Given the description of an element on the screen output the (x, y) to click on. 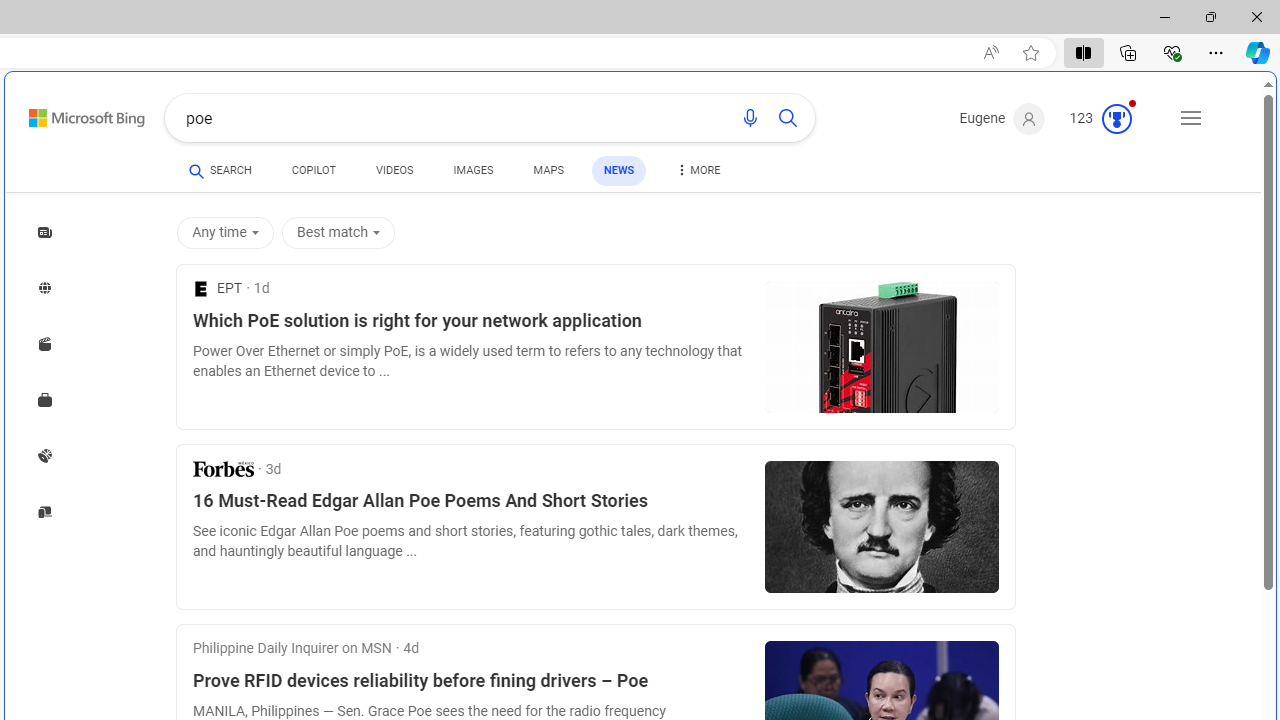
Search news from Forbes (223, 468)
Eugene (1001, 119)
COPILOT (313, 170)
NEWS (618, 170)
VIDEOS (394, 170)
